Given the description of an element on the screen output the (x, y) to click on. 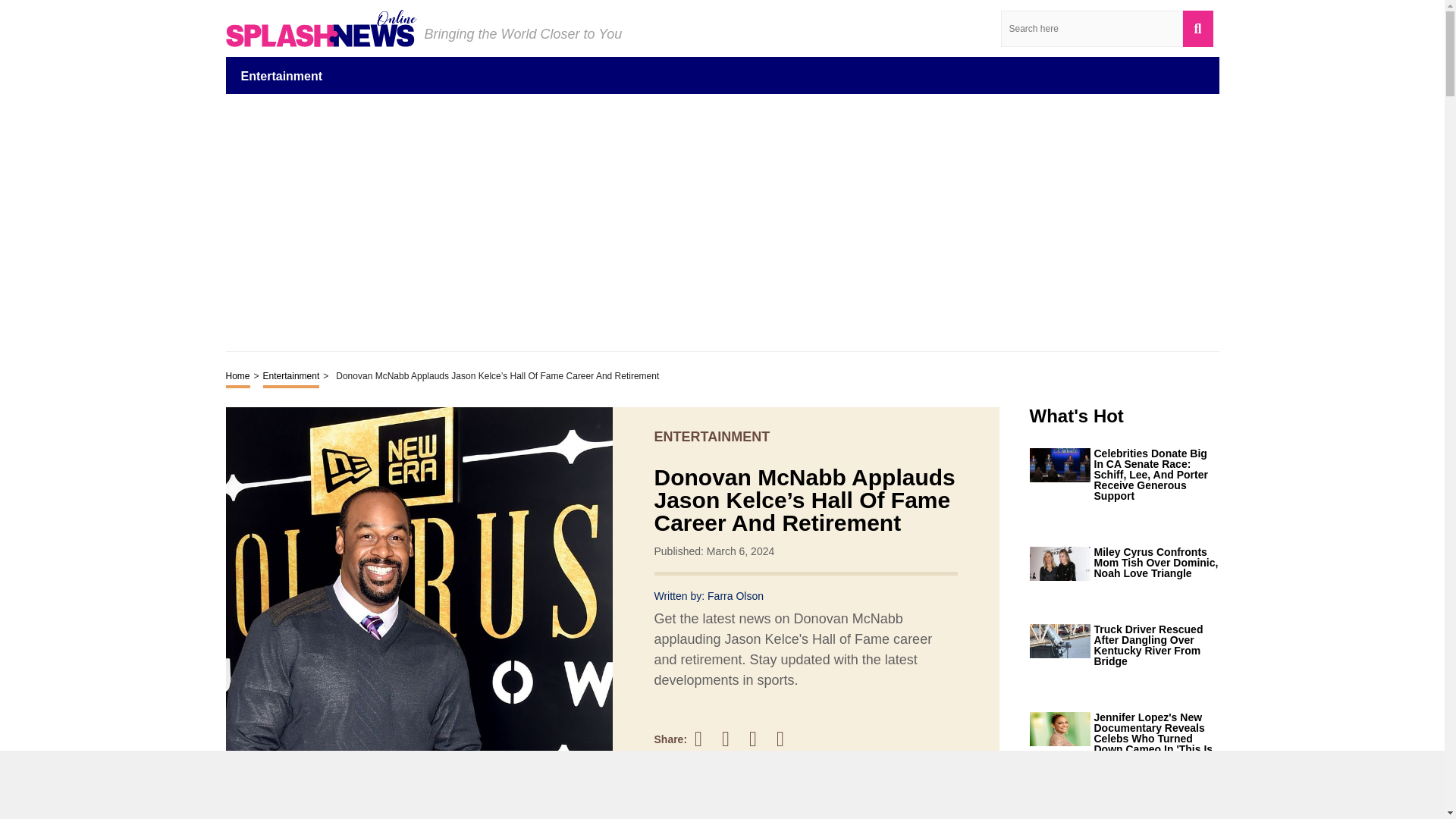
Farra Olson (734, 595)
Home (237, 377)
Entertainment (291, 377)
Share on WhatsApp (786, 739)
Share on Twitter (732, 739)
Share on Facebook (705, 739)
Share on Pinterest (759, 739)
